Given the description of an element on the screen output the (x, y) to click on. 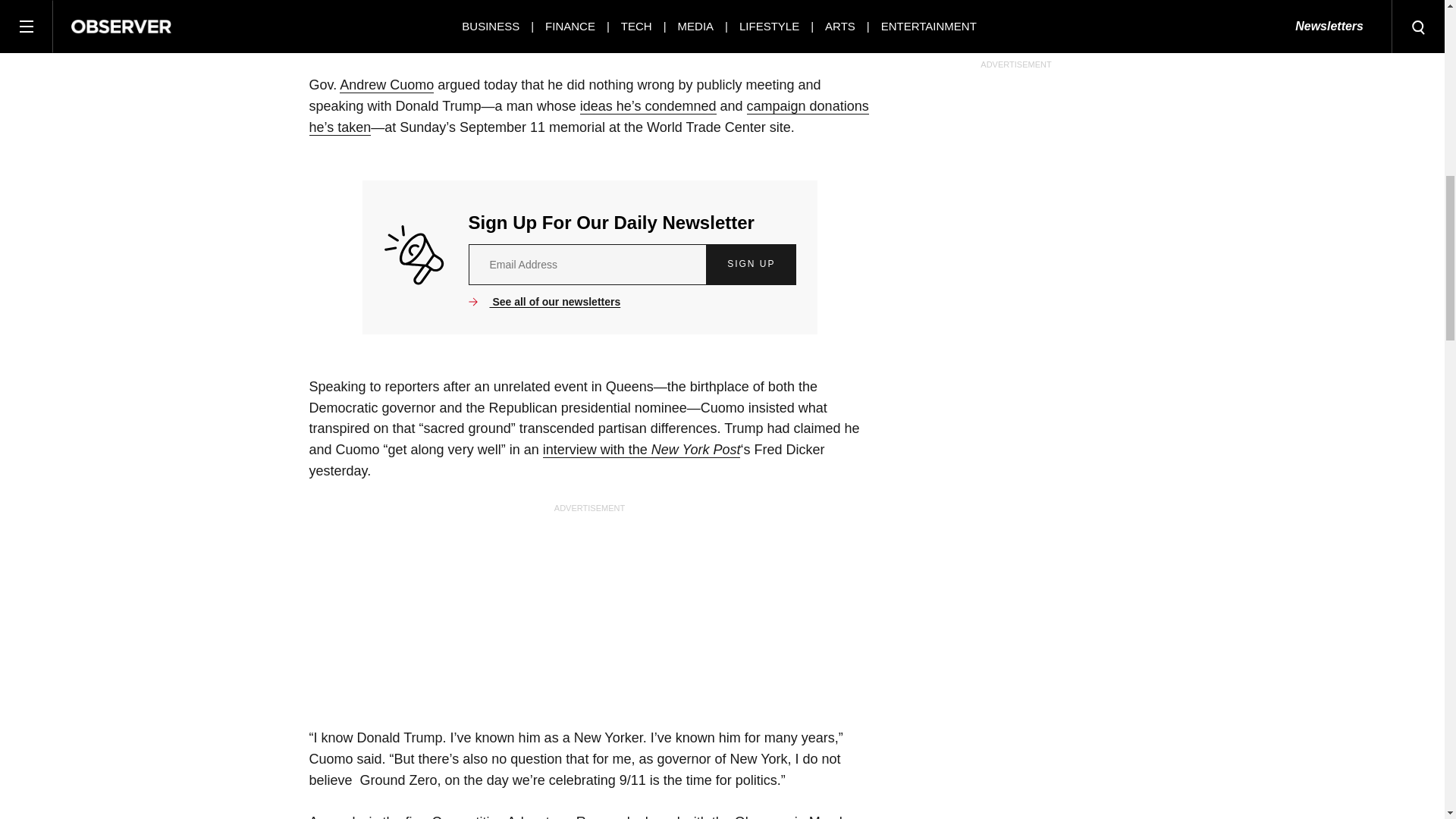
Andrew Cuomo (386, 84)
